Given the description of an element on the screen output the (x, y) to click on. 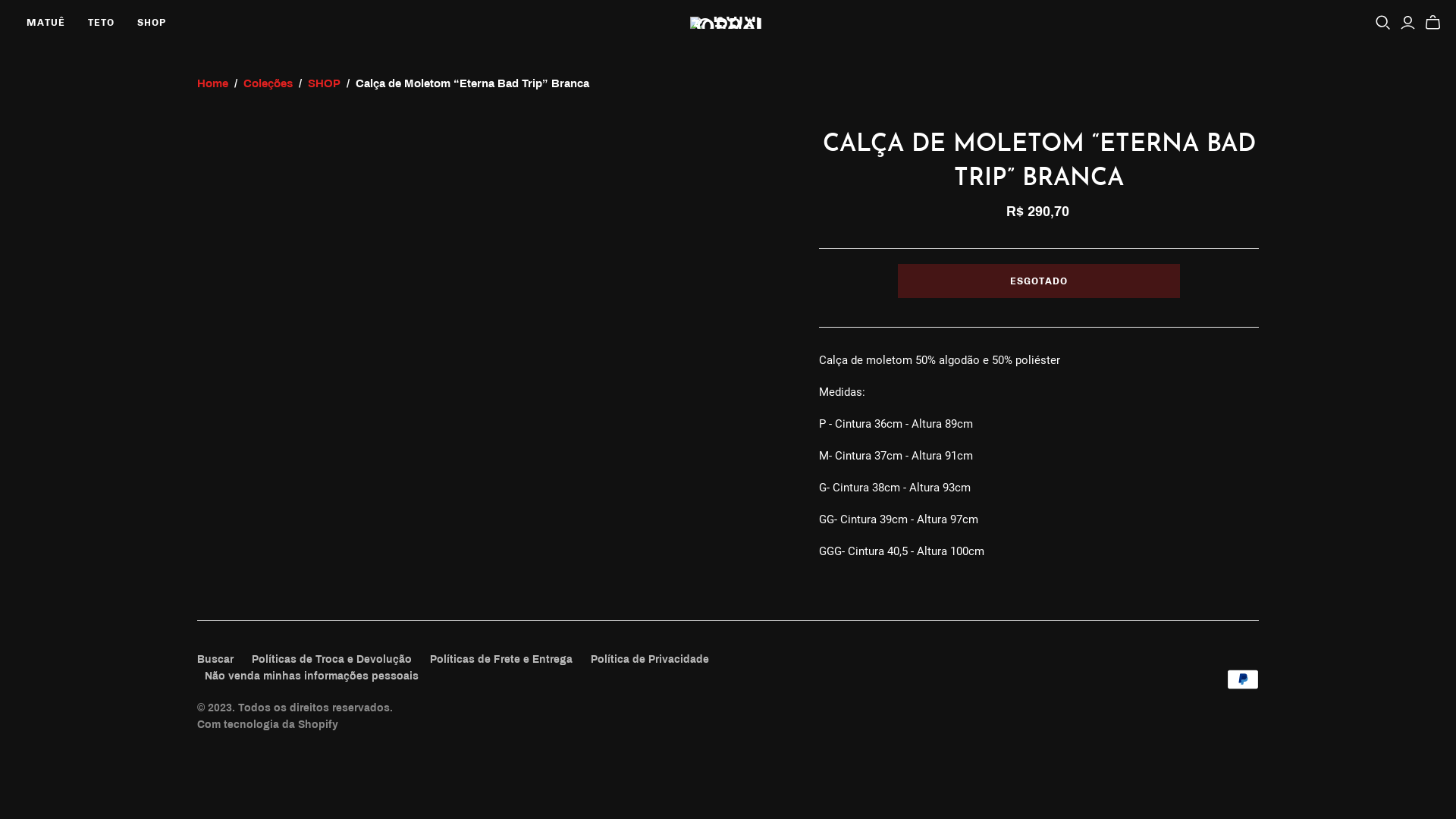
SHOP Element type: text (323, 83)
Com tecnologia da Shopify Element type: text (267, 724)
SHOP Element type: text (151, 22)
Home Element type: text (212, 83)
Buscar Element type: text (215, 659)
ESGOTADO Element type: text (1038, 280)
TETO Element type: text (100, 22)
